Given the description of an element on the screen output the (x, y) to click on. 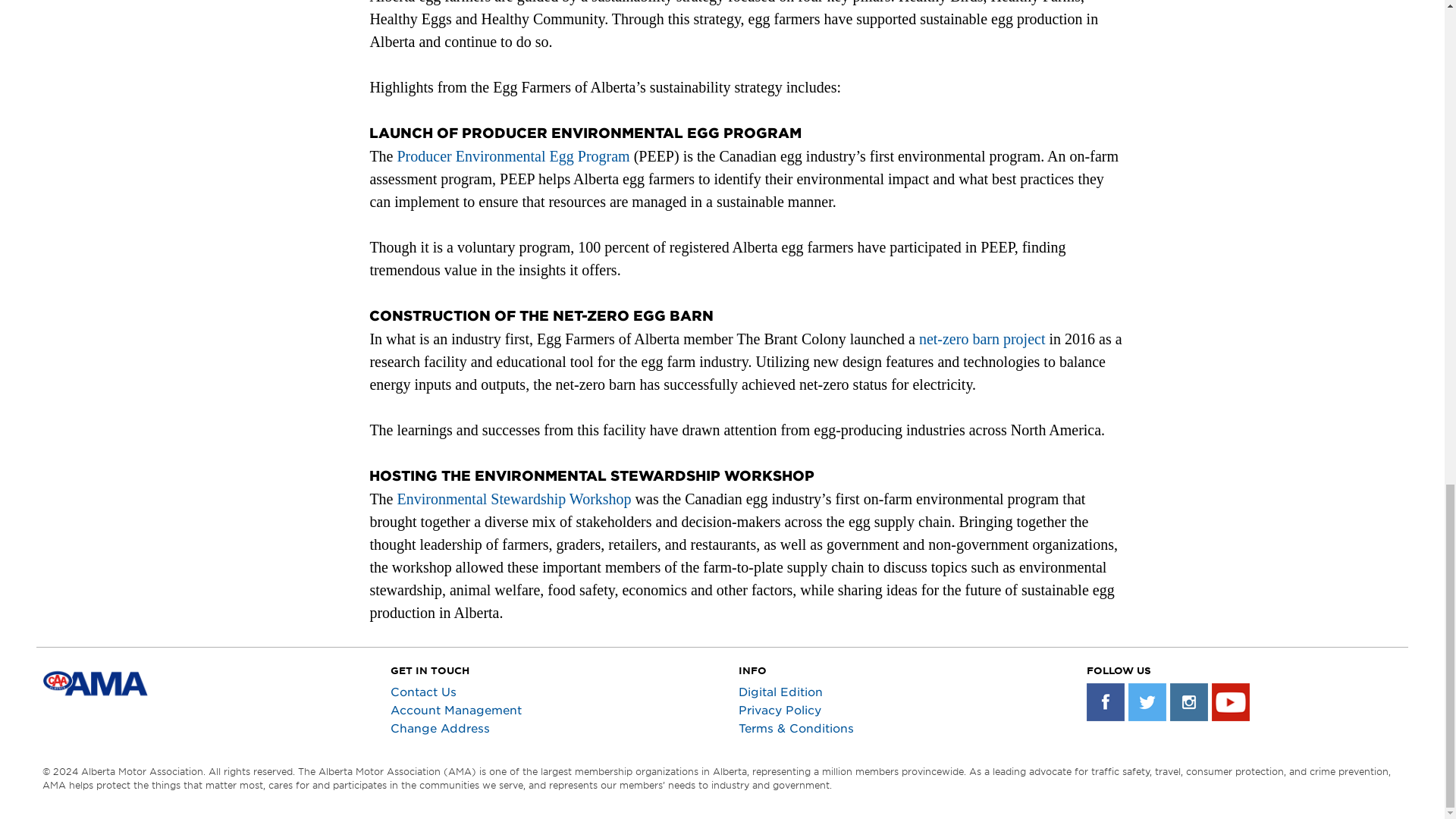
net-zero barn project (981, 338)
Account Management (455, 710)
Contact Us (423, 692)
Digital Edition (780, 692)
Change Address (439, 728)
Producer Environmental Egg Program (513, 156)
Environmental Stewardship Workshop (514, 498)
Privacy Policy (779, 710)
